Given the description of an element on the screen output the (x, y) to click on. 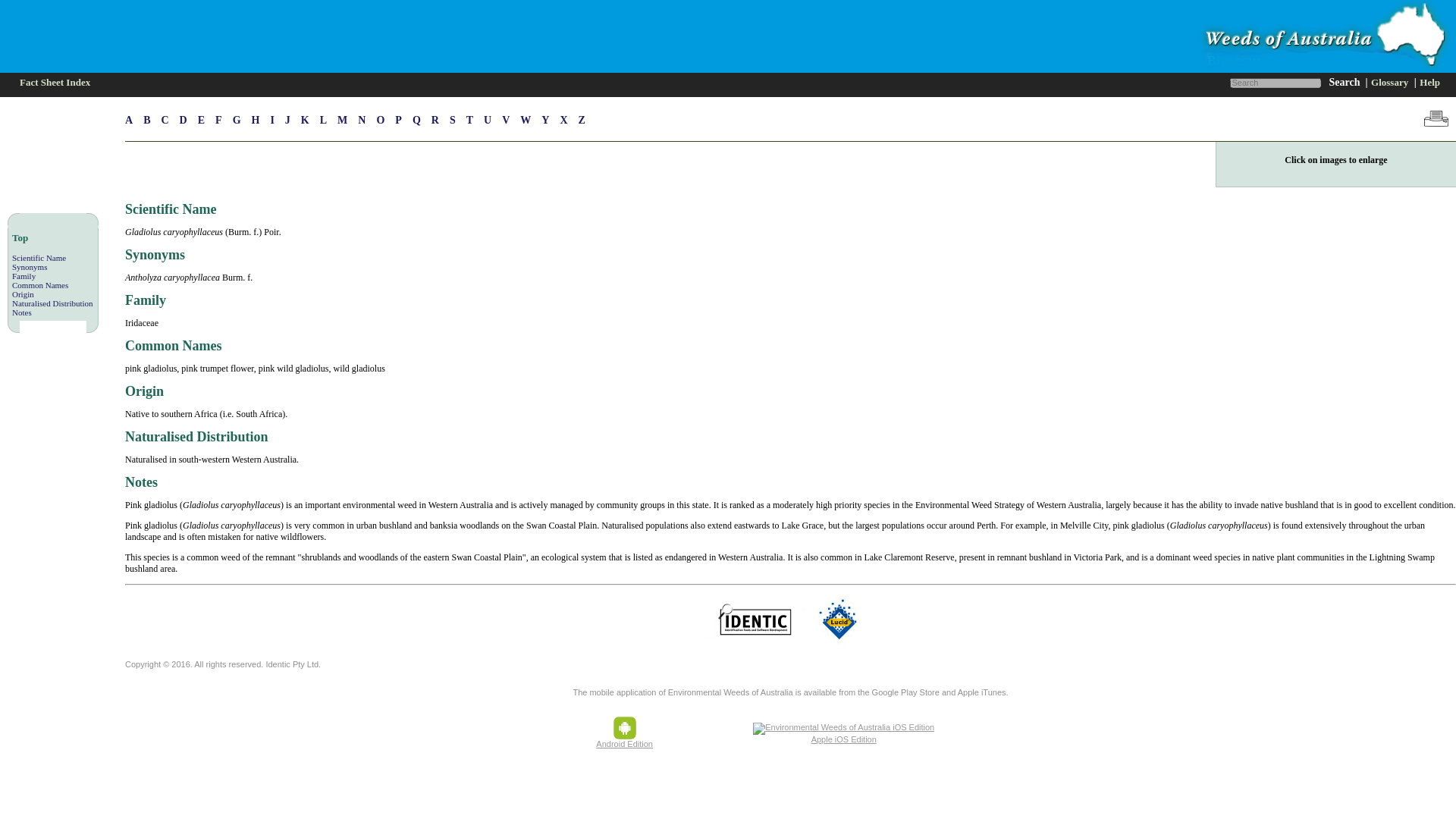
W (530, 120)
Origin (22, 293)
G (241, 120)
D (188, 120)
Naturalised Distribution (52, 302)
Notes (21, 311)
V (510, 120)
E (206, 120)
Q (421, 120)
R (439, 120)
